Given the description of an element on the screen output the (x, y) to click on. 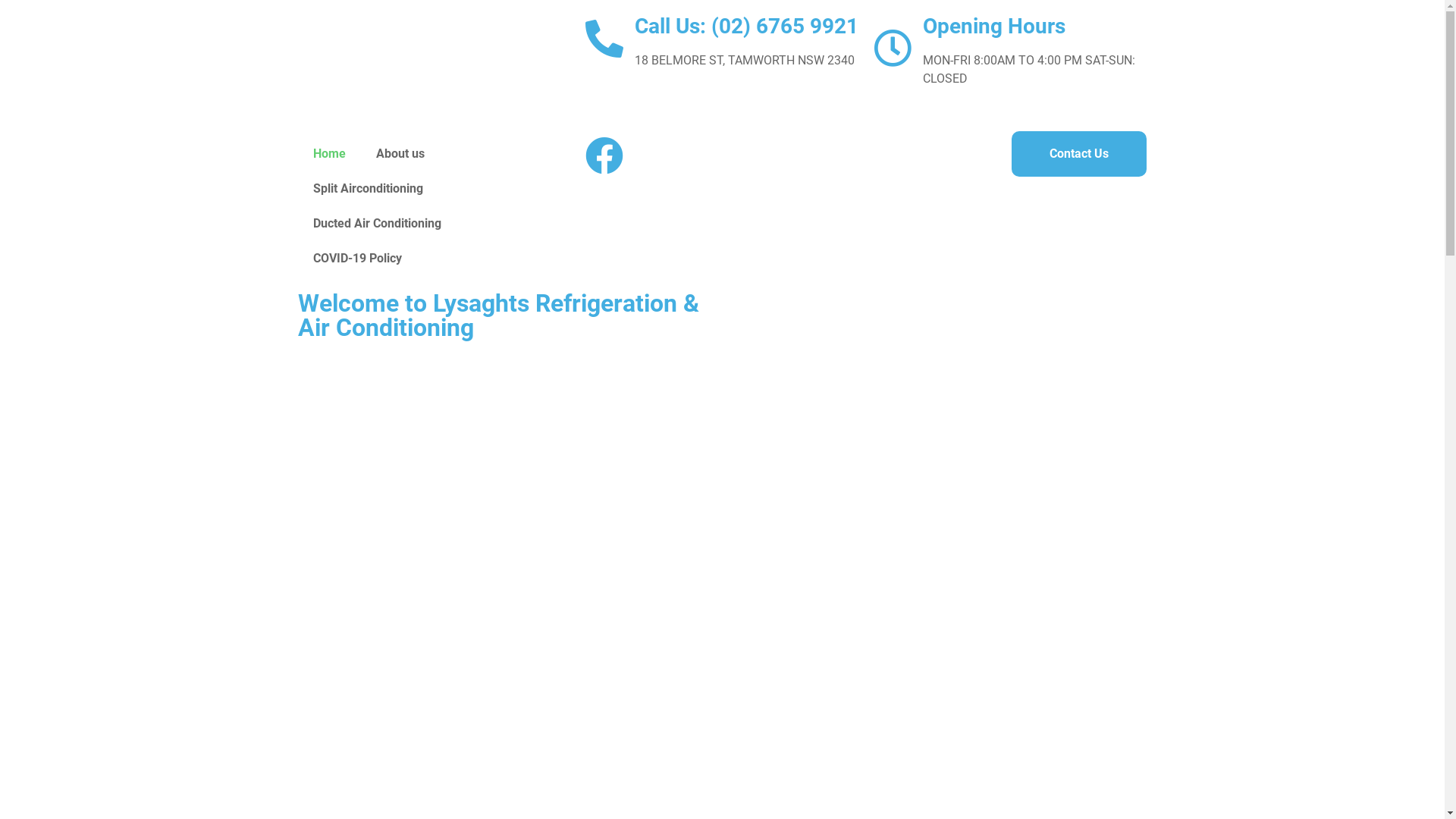
Contact Us Element type: text (1078, 153)
Split Airconditioning Element type: text (367, 188)
Call Us: (02) 6765 9921 Element type: text (746, 25)
About us Element type: text (399, 153)
Ducted Air Conditioning Element type: text (376, 223)
Home Element type: text (328, 153)
Opening Hours Element type: text (993, 25)
COVID-19 Policy Element type: text (356, 258)
